Given the description of an element on the screen output the (x, y) to click on. 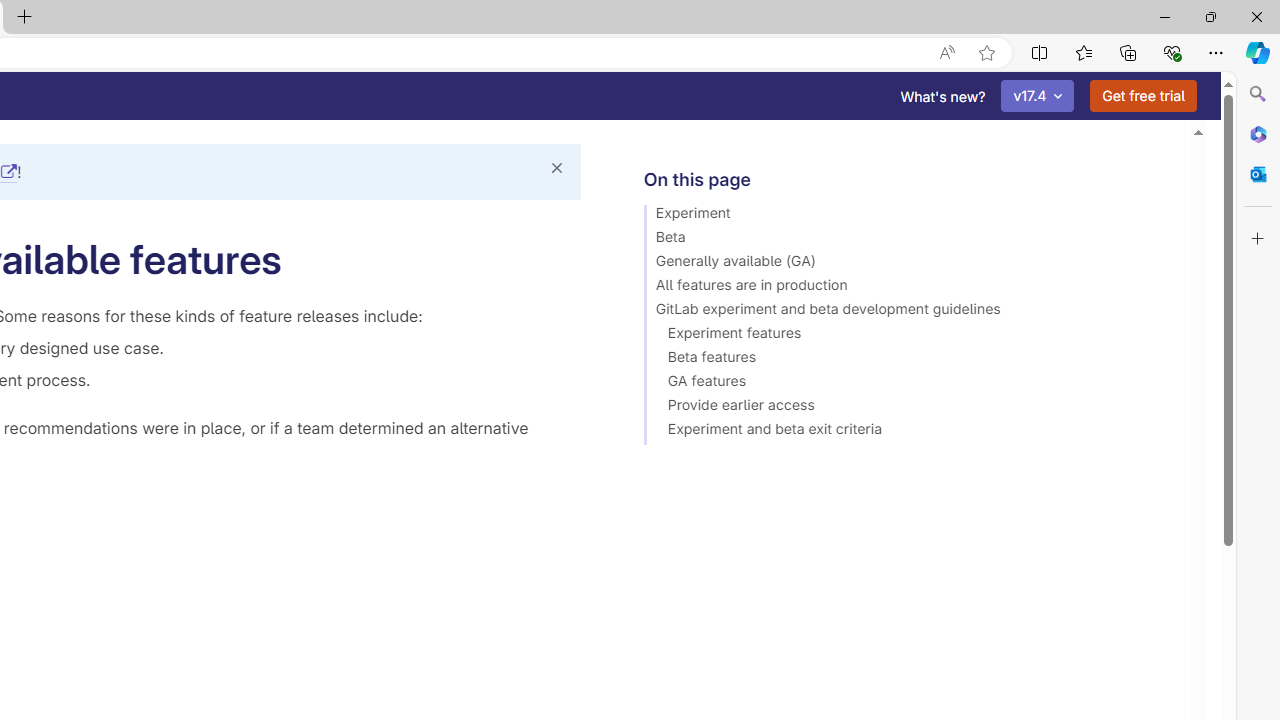
Experiment features (908, 336)
GitLab experiment and beta development guidelines (908, 312)
GitLab experiment and beta development guidelines (908, 312)
Experiment (908, 215)
All features are in production (908, 287)
What's new? (943, 96)
v17.4 (1037, 95)
